Given the description of an element on the screen output the (x, y) to click on. 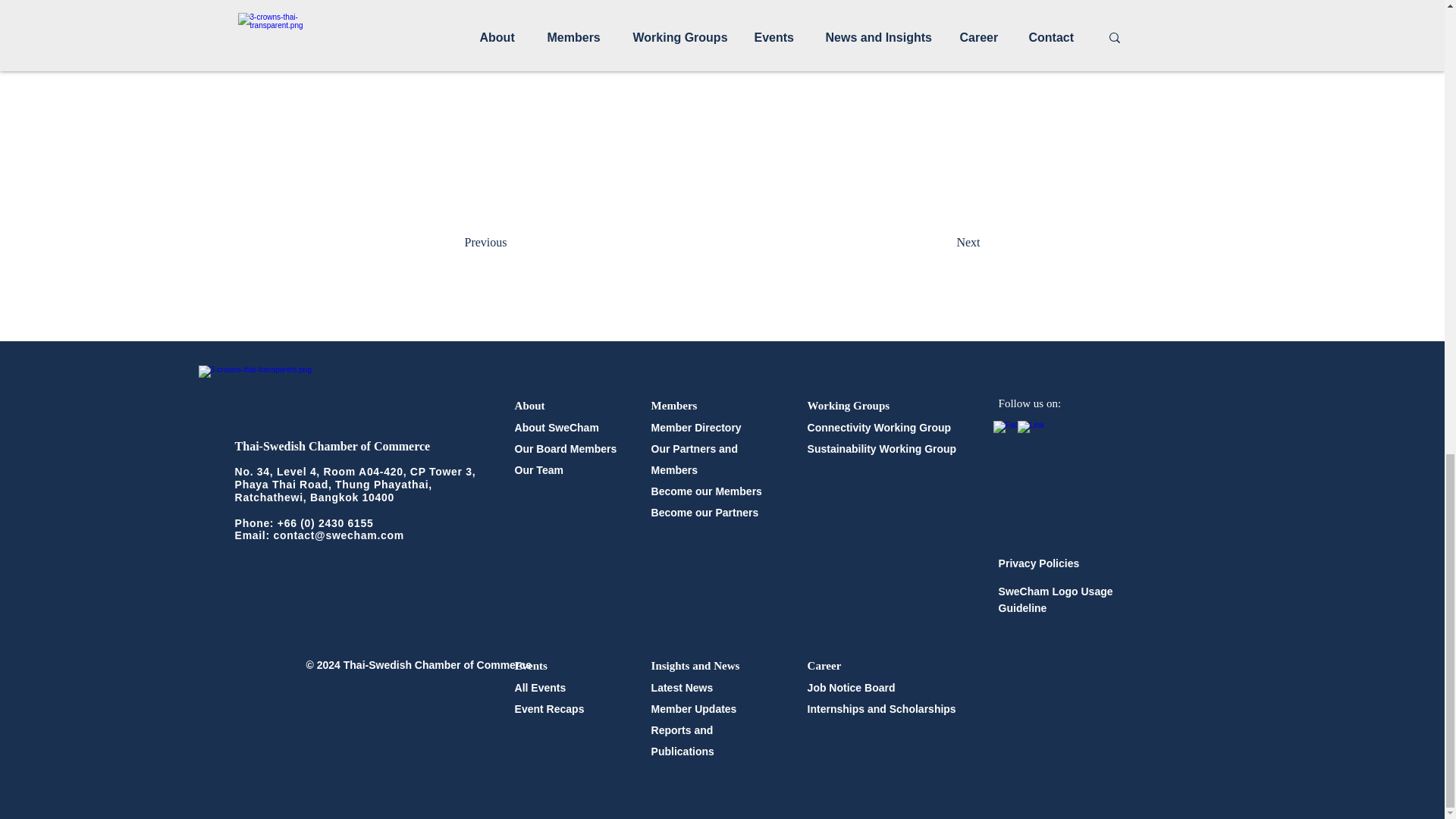
Next (941, 242)
Connectivity Working Group (880, 427)
Working Groups (848, 404)
Become our Members (705, 491)
Our Team (539, 469)
Privacy Policies (1039, 563)
Member Directory (695, 427)
cham.com (375, 535)
Our Partners and Members (694, 459)
About SweCham (556, 427)
